Given the description of an element on the screen output the (x, y) to click on. 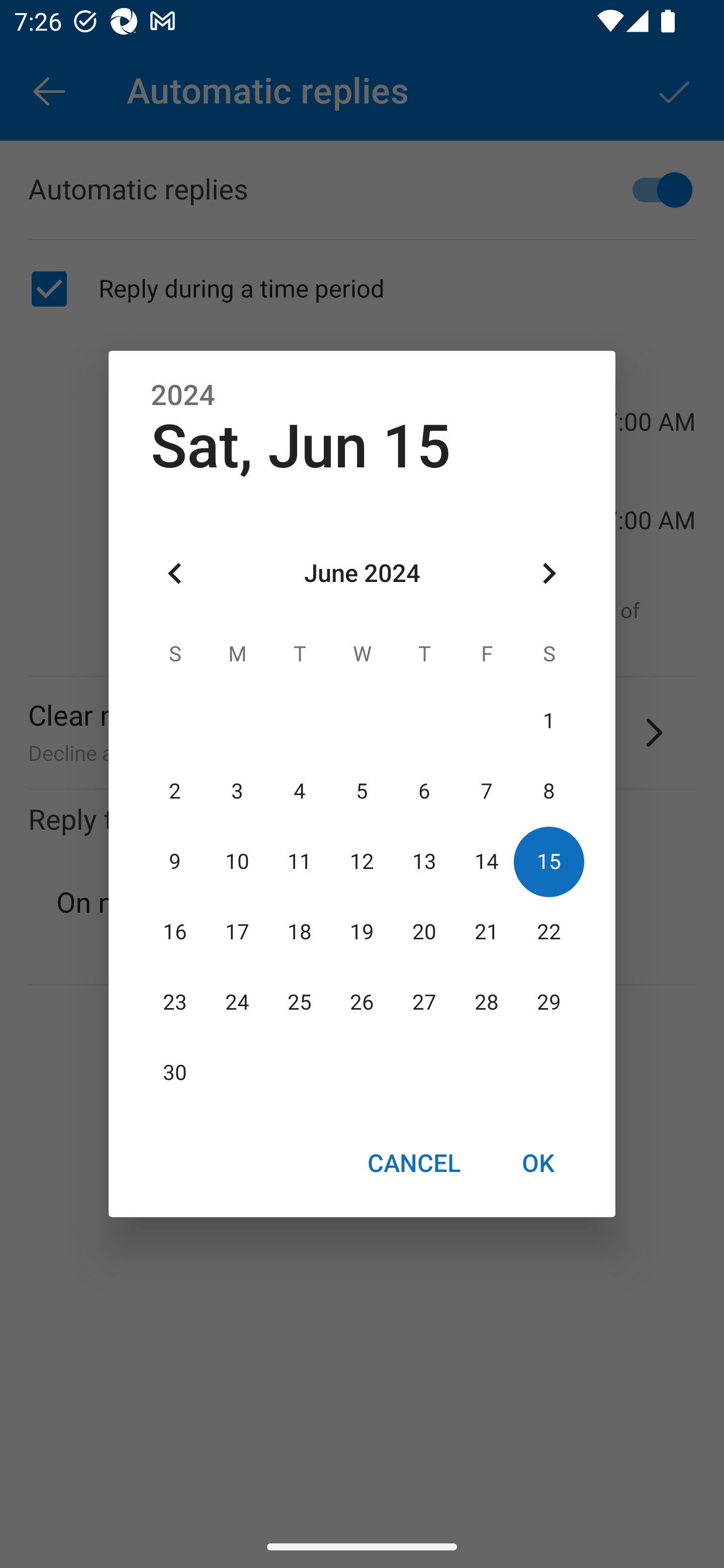
2024 (182, 395)
Sat, Jun 15 (300, 446)
Previous month (174, 573)
Next month (548, 573)
1 01 June 2024 (548, 720)
2 02 June 2024 (175, 790)
3 03 June 2024 (237, 790)
4 04 June 2024 (299, 790)
5 05 June 2024 (361, 790)
6 06 June 2024 (424, 790)
7 07 June 2024 (486, 790)
8 08 June 2024 (548, 790)
9 09 June 2024 (175, 861)
10 10 June 2024 (237, 861)
11 11 June 2024 (299, 861)
12 12 June 2024 (361, 861)
13 13 June 2024 (424, 861)
14 14 June 2024 (486, 861)
15 15 June 2024 (548, 861)
16 16 June 2024 (175, 931)
17 17 June 2024 (237, 931)
18 18 June 2024 (299, 931)
19 19 June 2024 (361, 931)
20 20 June 2024 (424, 931)
21 21 June 2024 (486, 931)
22 22 June 2024 (548, 931)
23 23 June 2024 (175, 1002)
24 24 June 2024 (237, 1002)
25 25 June 2024 (299, 1002)
26 26 June 2024 (361, 1002)
27 27 June 2024 (424, 1002)
28 28 June 2024 (486, 1002)
29 29 June 2024 (548, 1002)
30 30 June 2024 (175, 1073)
CANCEL (413, 1162)
OK (537, 1162)
